Given the description of an element on the screen output the (x, y) to click on. 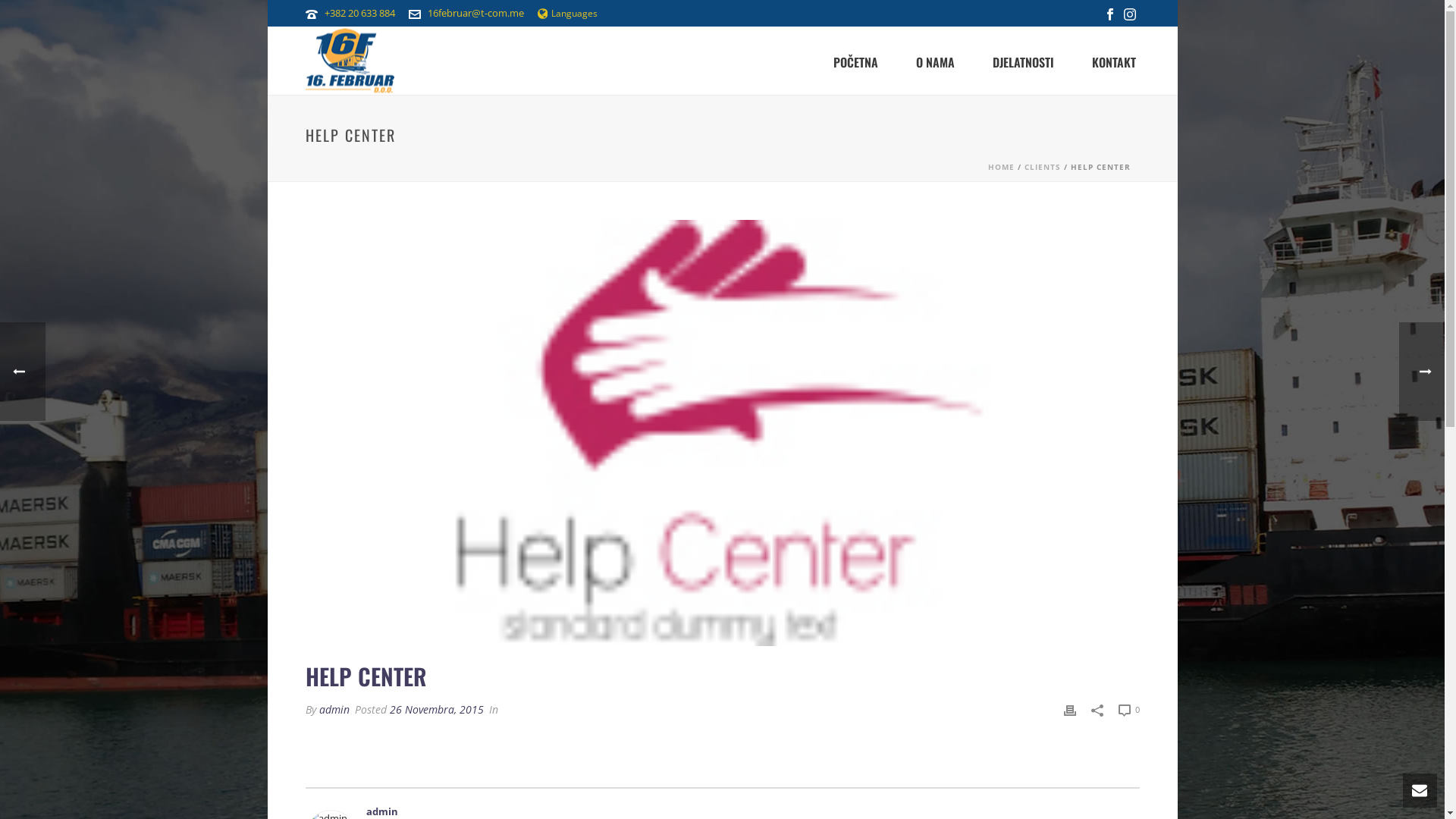
  Element type: text (721, 432)
O NAMA Element type: text (934, 60)
16februar@t-com.me Element type: text (475, 12)
DJELATNOSTI Element type: text (1023, 60)
26 Novembra, 2015 Element type: text (436, 709)
CLIENTS Element type: text (1041, 166)
admin Element type: text (333, 709)
Print Element type: hover (1069, 709)
HOME Element type: text (1000, 166)
+382 20 633 884 Element type: text (359, 12)
KONTAKT Element type: text (1113, 60)
0 Element type: text (1128, 709)
Help Center Element type: hover (721, 432)
Languages Element type: text (566, 12)
